Given the description of an element on the screen output the (x, y) to click on. 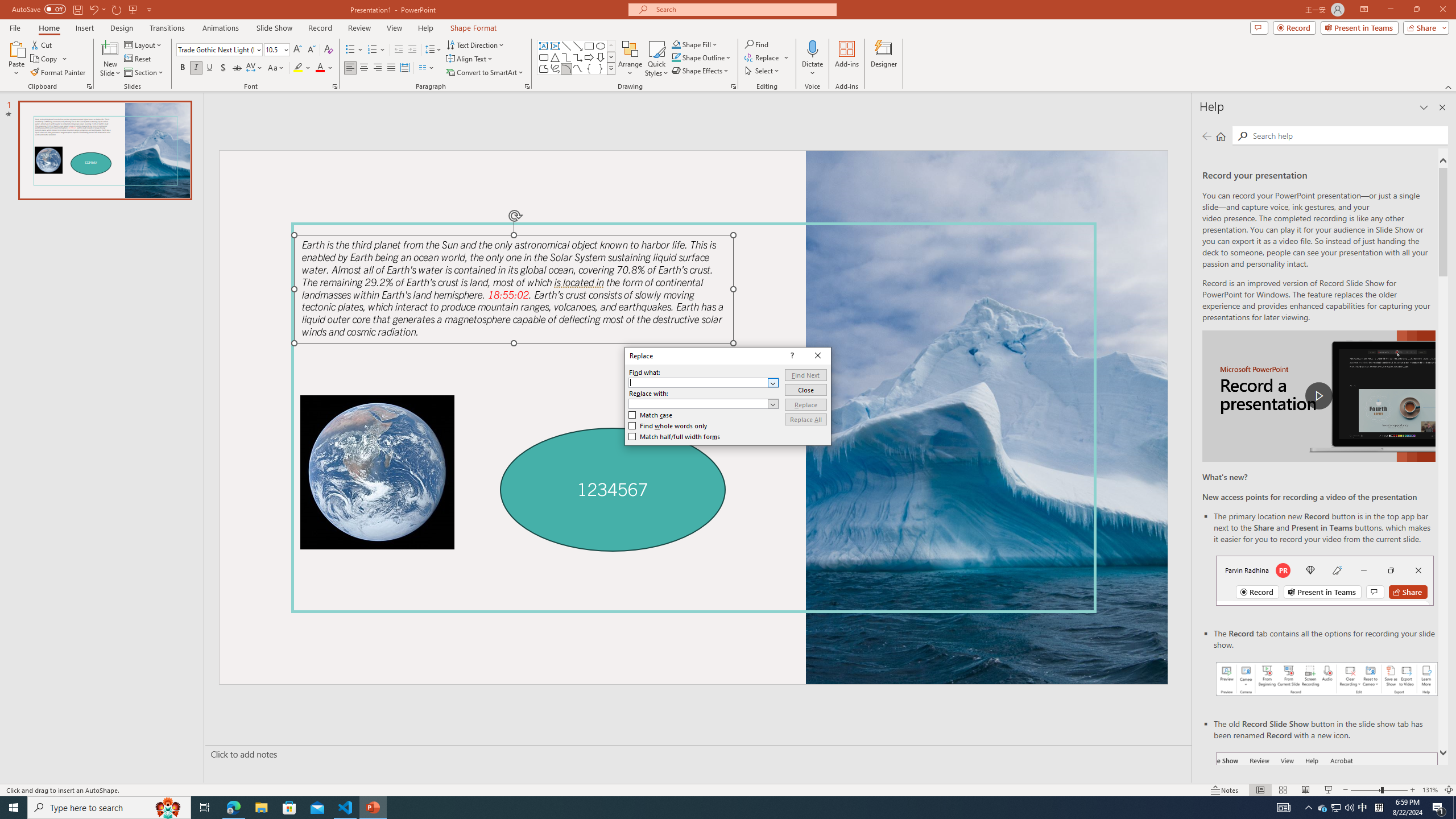
Text Highlight Color Yellow (297, 67)
Increase Indent (412, 49)
PowerPoint - 1 running window (373, 807)
Center (363, 67)
Action Center, 1 new notification (1439, 807)
Record button in top bar (1324, 580)
Convert to SmartArt (1322, 807)
Freeform: Scribble (485, 72)
